Given the description of an element on the screen output the (x, y) to click on. 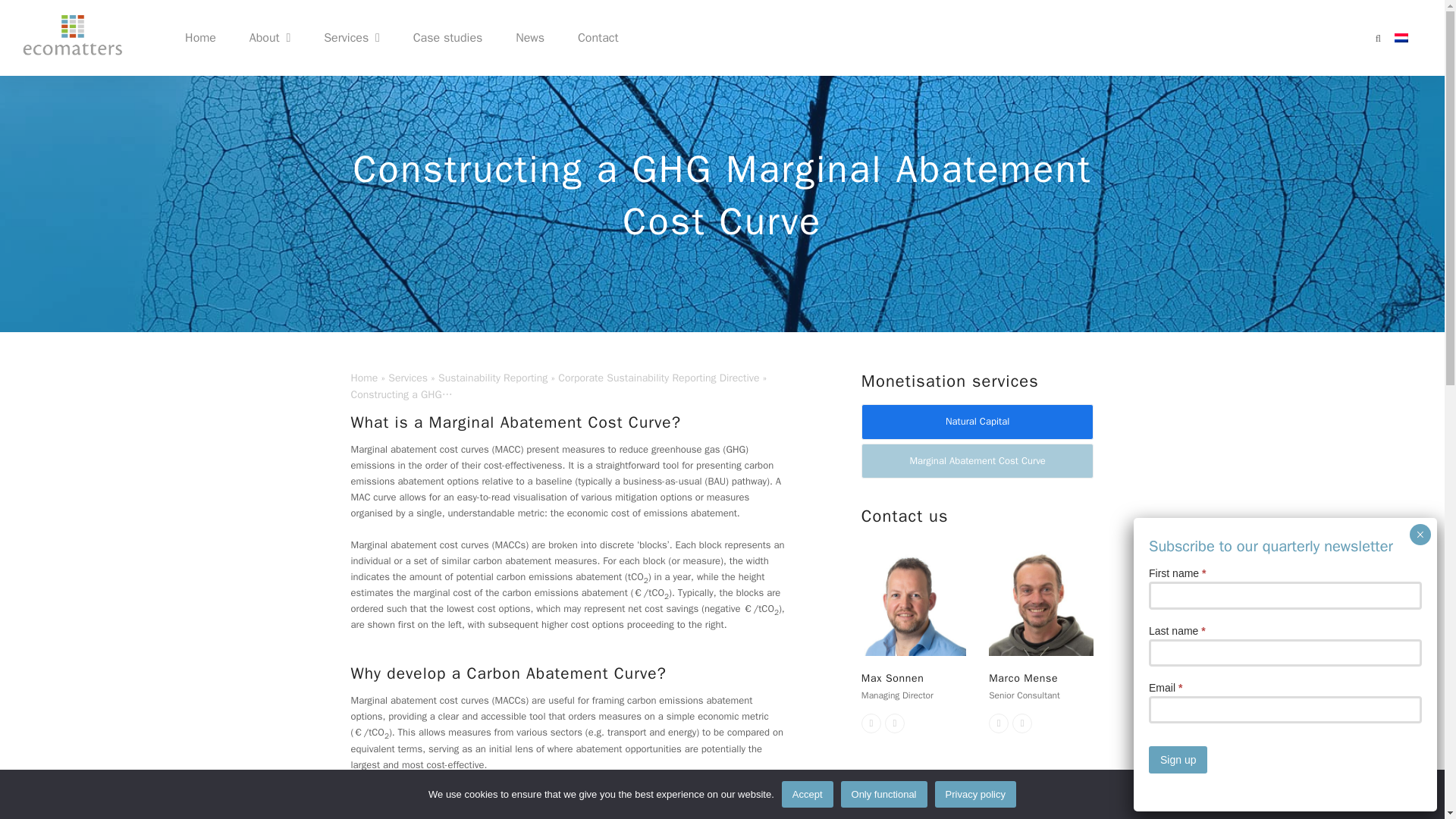
Only functional (1425, 793)
Max Sonnen (913, 602)
Marco Mense (1040, 602)
Case studies (447, 38)
Services (352, 38)
